Given the description of an element on the screen output the (x, y) to click on. 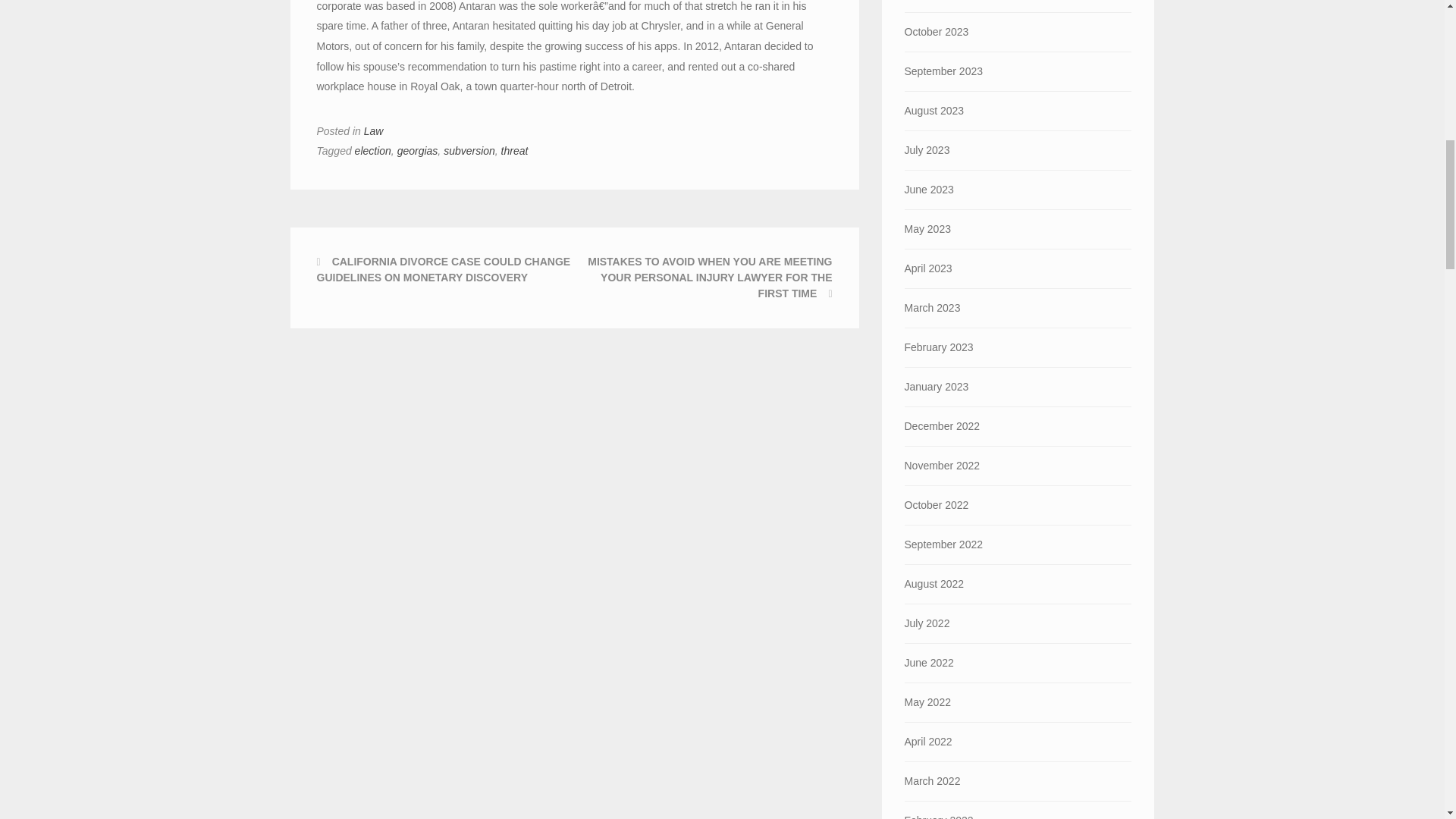
subversion (469, 150)
election (373, 150)
georgias (417, 150)
threat (514, 150)
July 2023 (1017, 150)
June 2023 (1017, 189)
September 2023 (1017, 71)
May 2023 (1017, 228)
October 2023 (1017, 32)
August 2023 (1017, 110)
November 2023 (1017, 6)
Law (374, 131)
